Given the description of an element on the screen output the (x, y) to click on. 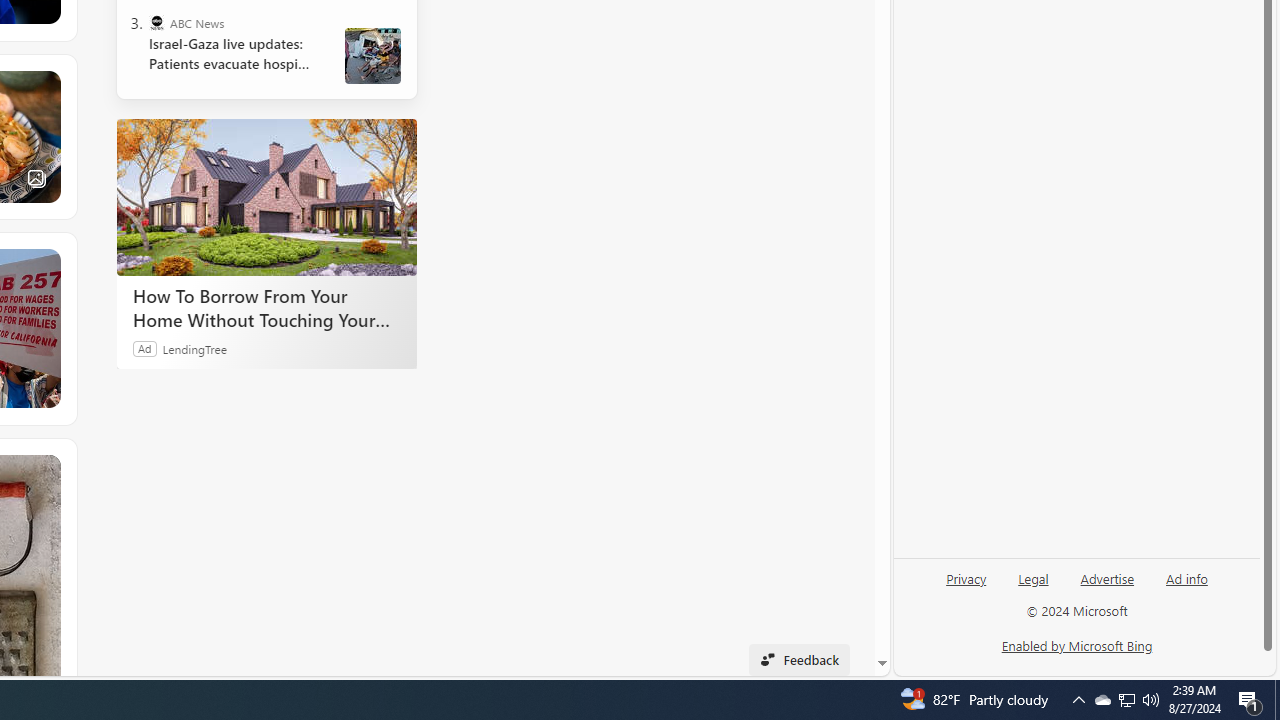
ABC News (156, 22)
